Given the description of an element on the screen output the (x, y) to click on. 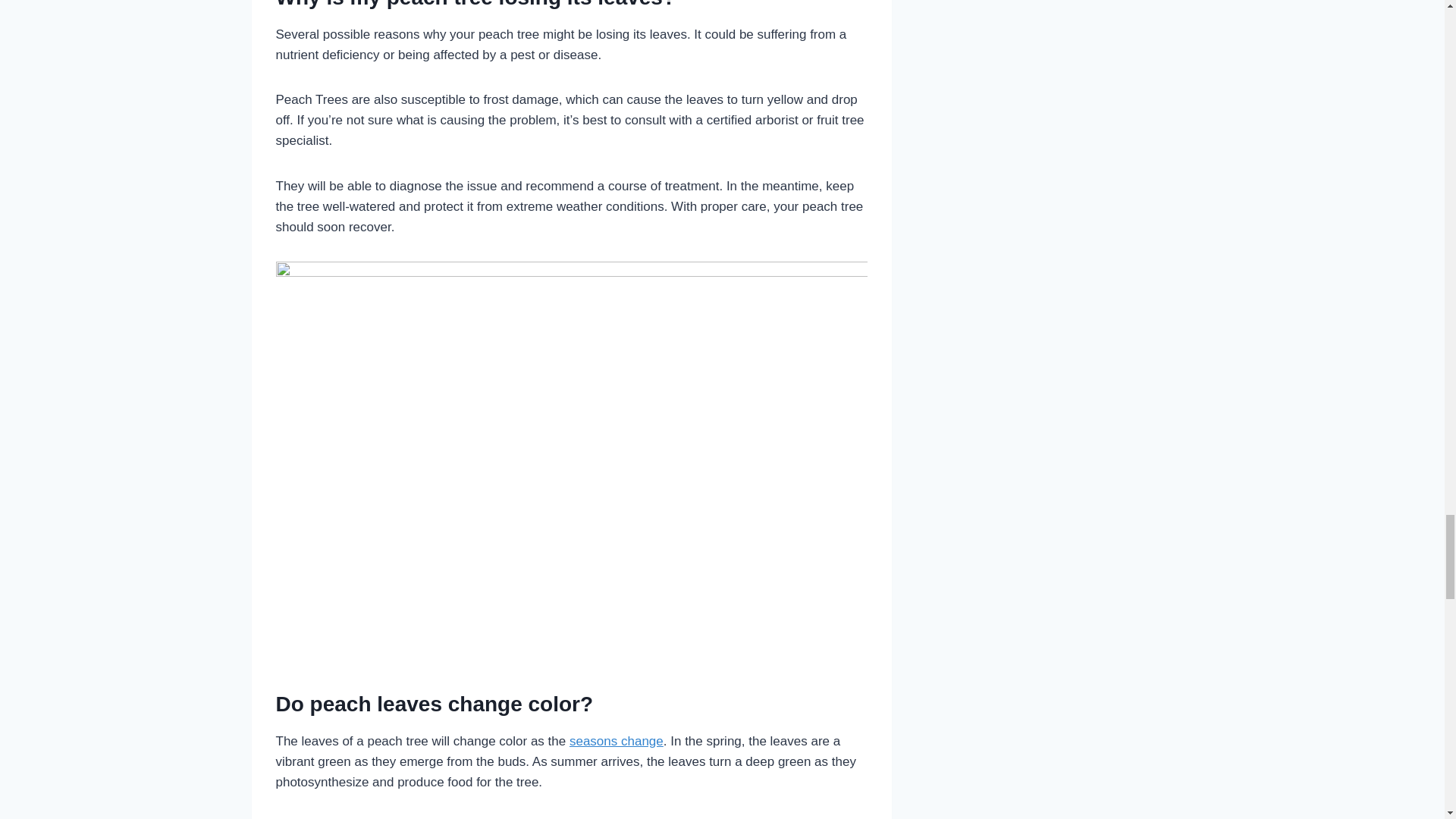
seasons change (616, 740)
